Given the description of an element on the screen output the (x, y) to click on. 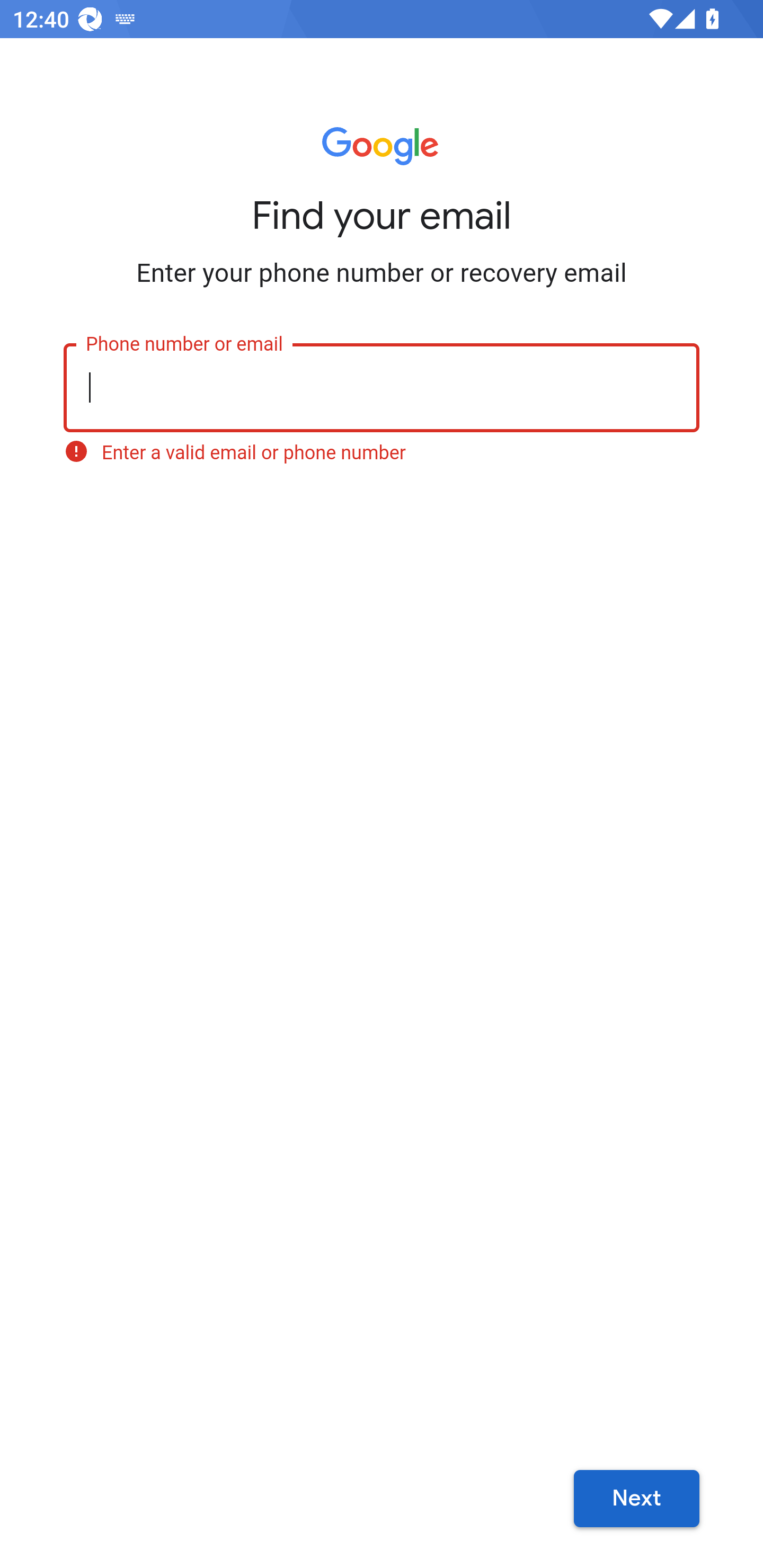
Next (635, 1498)
